Given the description of an element on the screen output the (x, y) to click on. 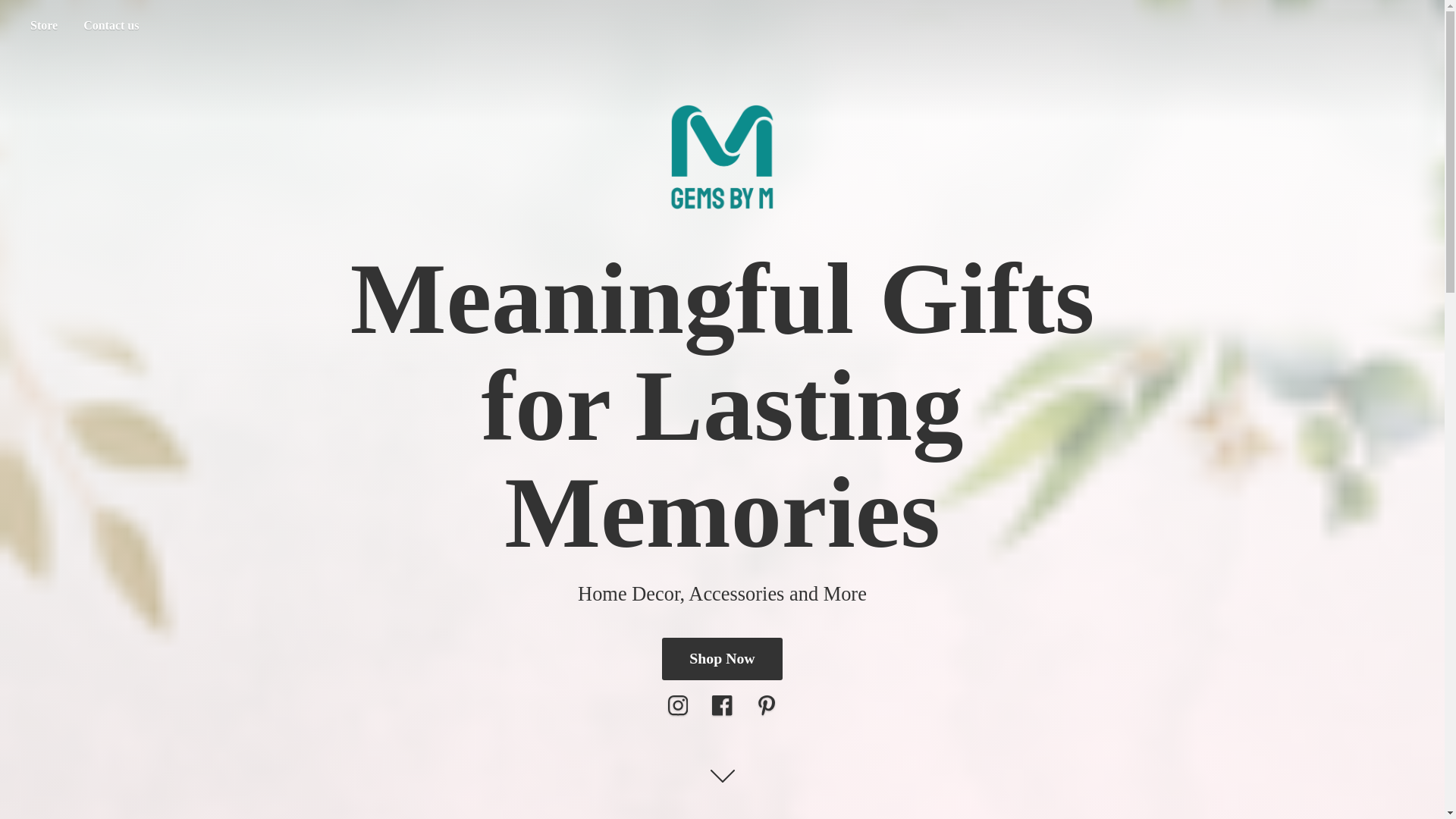
Shop Now (722, 659)
Contact us (110, 25)
Store (43, 25)
